Given the description of an element on the screen output the (x, y) to click on. 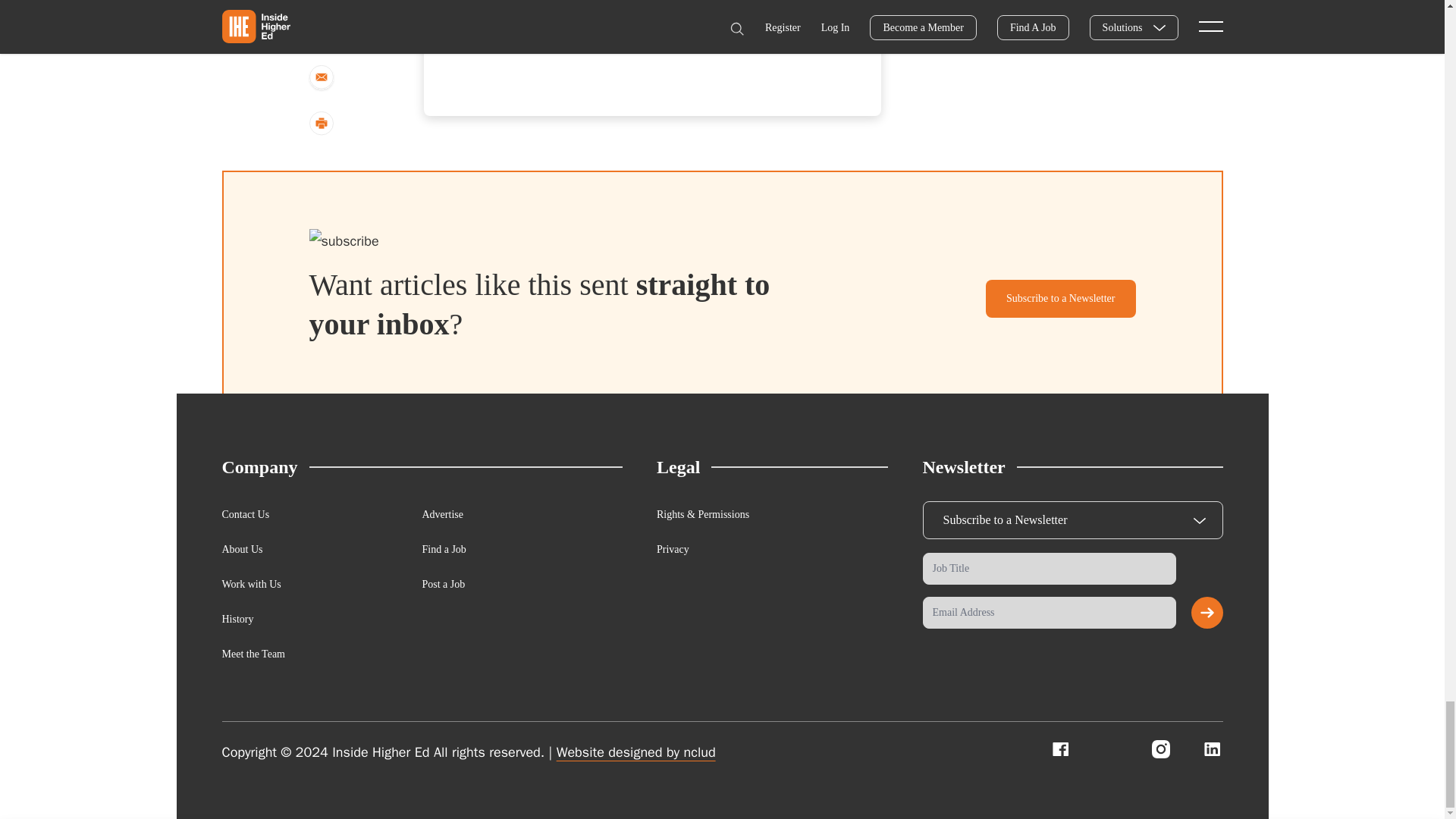
Submit (1207, 612)
